Given the description of an element on the screen output the (x, y) to click on. 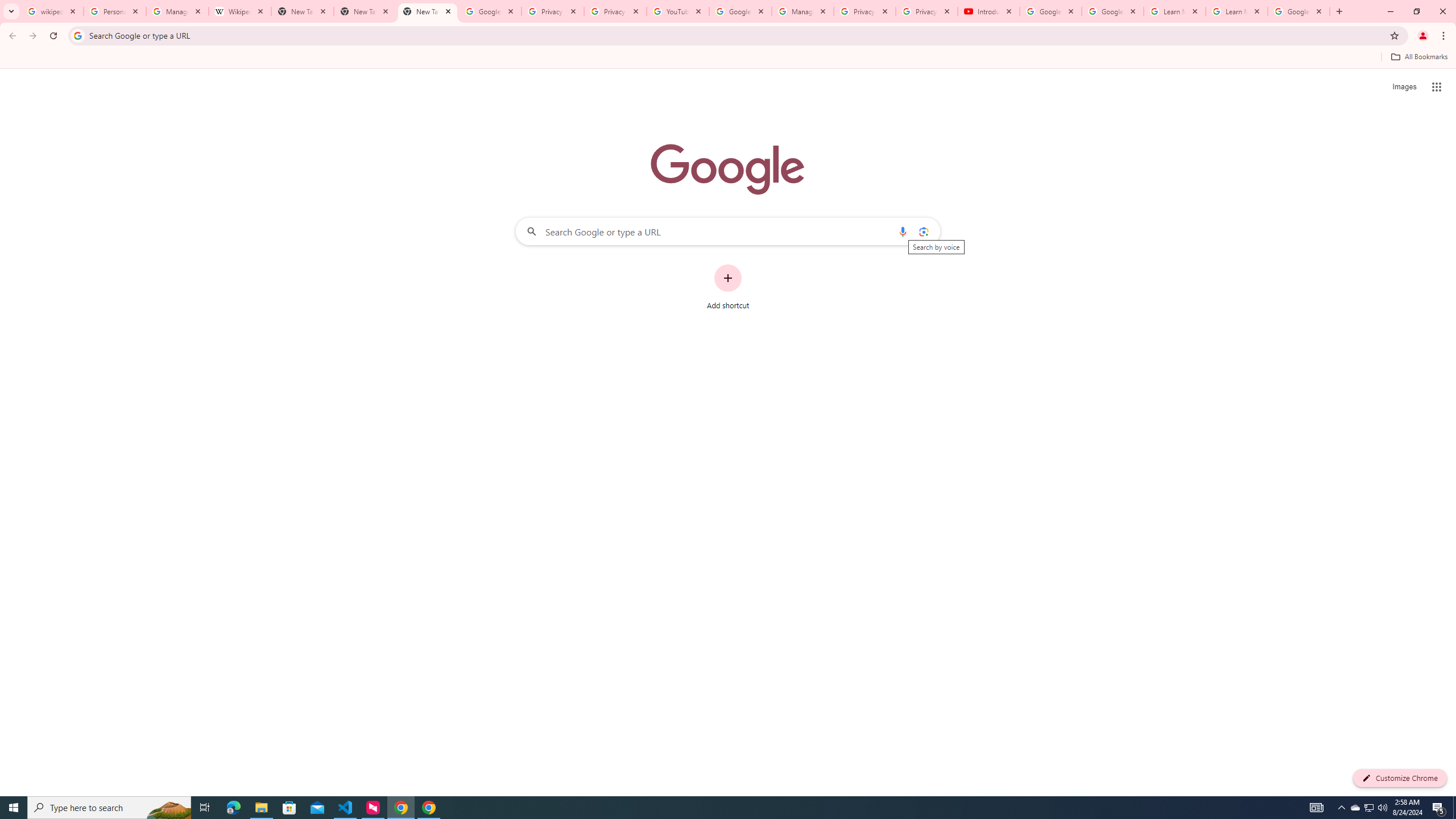
Personalization & Google Search results - Google Search Help (114, 11)
New Tab (427, 11)
Google Drive: Sign-in (490, 11)
